Given the description of an element on the screen output the (x, y) to click on. 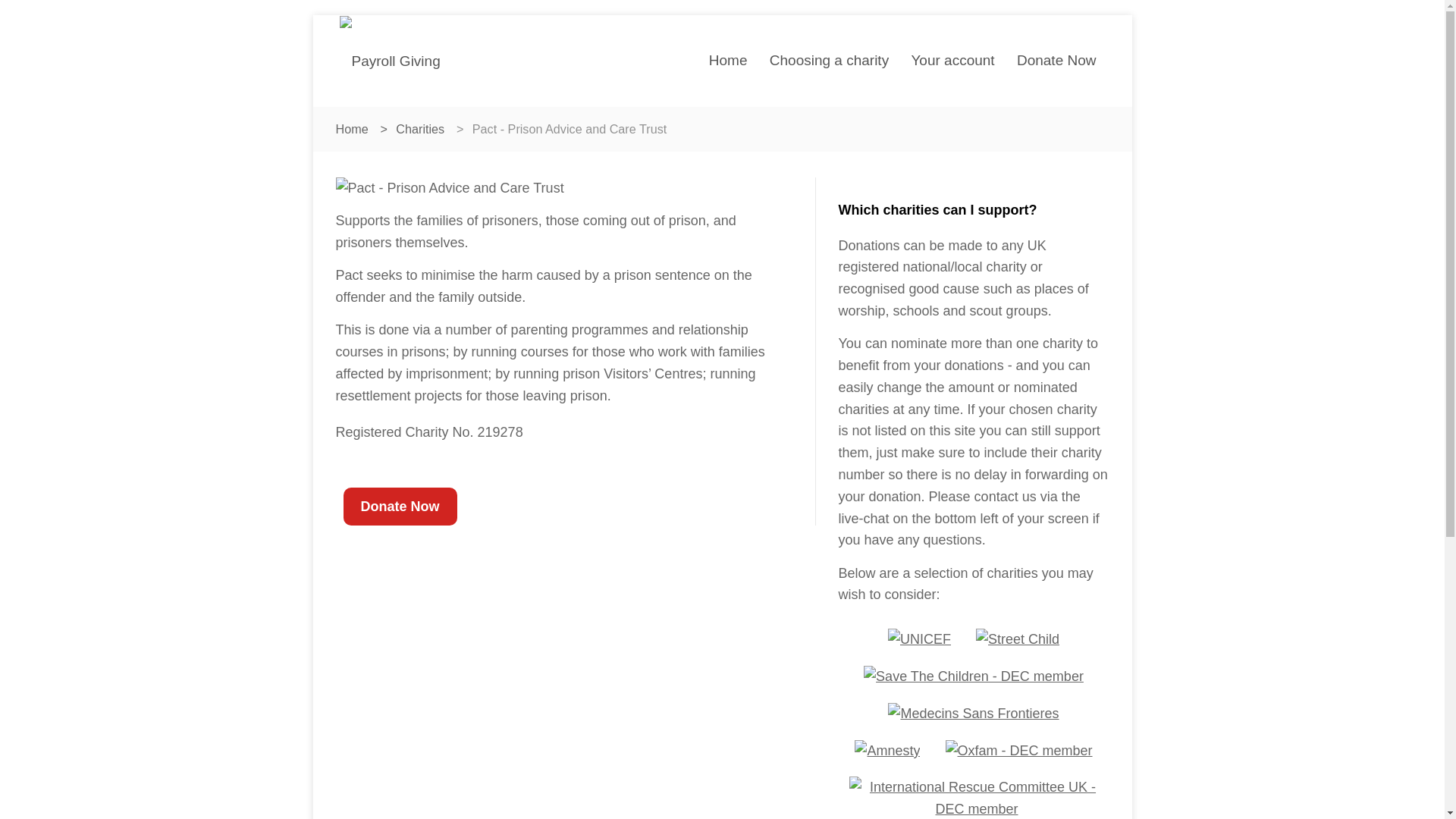
UNICEF (919, 639)
Pact - Prison Advice and Care Trust (448, 188)
Save The Children - DEC member (973, 676)
International Rescue Committee UK - DEC member (976, 794)
Charities (420, 128)
Amnesty (887, 750)
Street Child (1017, 639)
Donate Now (1056, 59)
Home (728, 59)
Medecins Sans Frontieres (972, 713)
Choosing a charity (829, 59)
Donate Now (399, 506)
Home (351, 128)
Oxfam - DEC member (1018, 750)
Your account (952, 59)
